Given the description of an element on the screen output the (x, y) to click on. 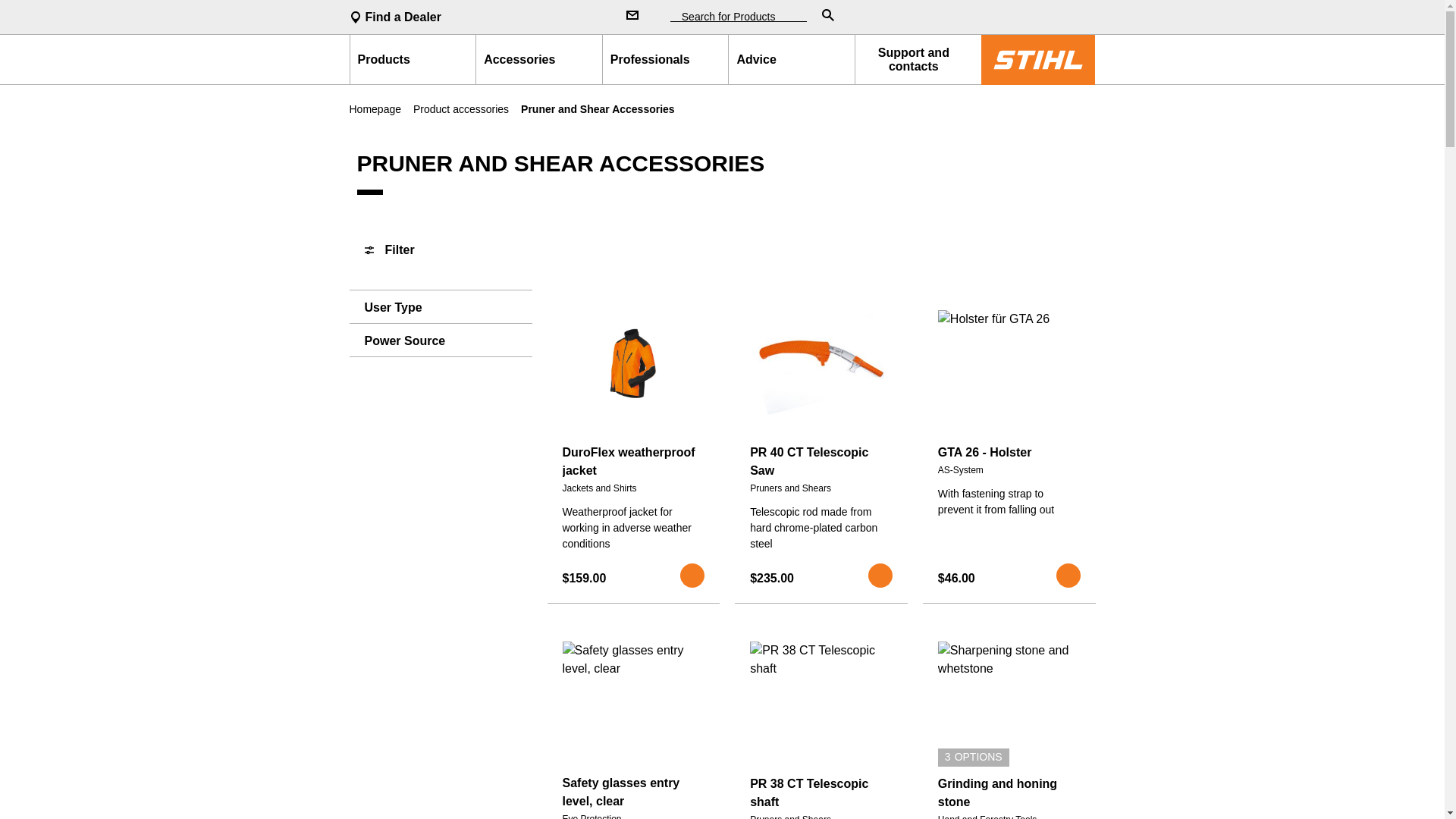
Accessories (538, 59)
Products (413, 59)
DuroFlex weatherproof jacket (633, 461)
Find a Dealer (475, 16)
Grinding and honing stone (1008, 792)
Safety glasses entry level, clear (633, 791)
PR 38 CT Telescopic shaft (820, 792)
GTA 26 - Holster (1008, 452)
PR 40 CT Telescopic Saw (820, 461)
